Given the description of an element on the screen output the (x, y) to click on. 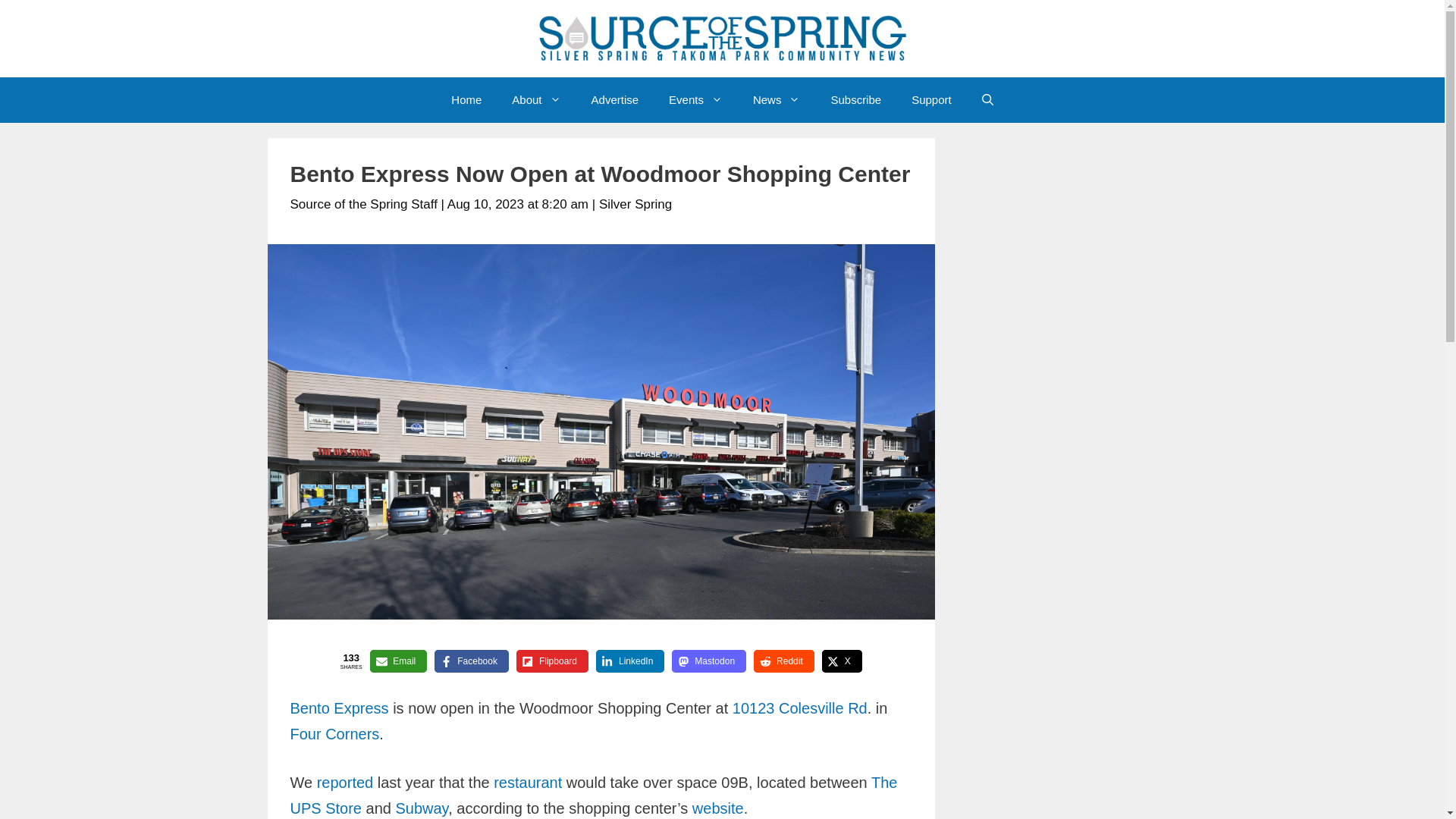
Reddit (783, 661)
LinkedIn (629, 661)
10123 Colesville Rd (799, 708)
Subway (421, 808)
Home (465, 99)
reported (345, 782)
Events (695, 99)
Flipboard (552, 661)
The UPS Store (592, 794)
News (776, 99)
Source of the Spring Staff (362, 204)
X (841, 661)
Silver Spring (634, 204)
Subscribe (855, 99)
Mastodon (708, 661)
